Given the description of an element on the screen output the (x, y) to click on. 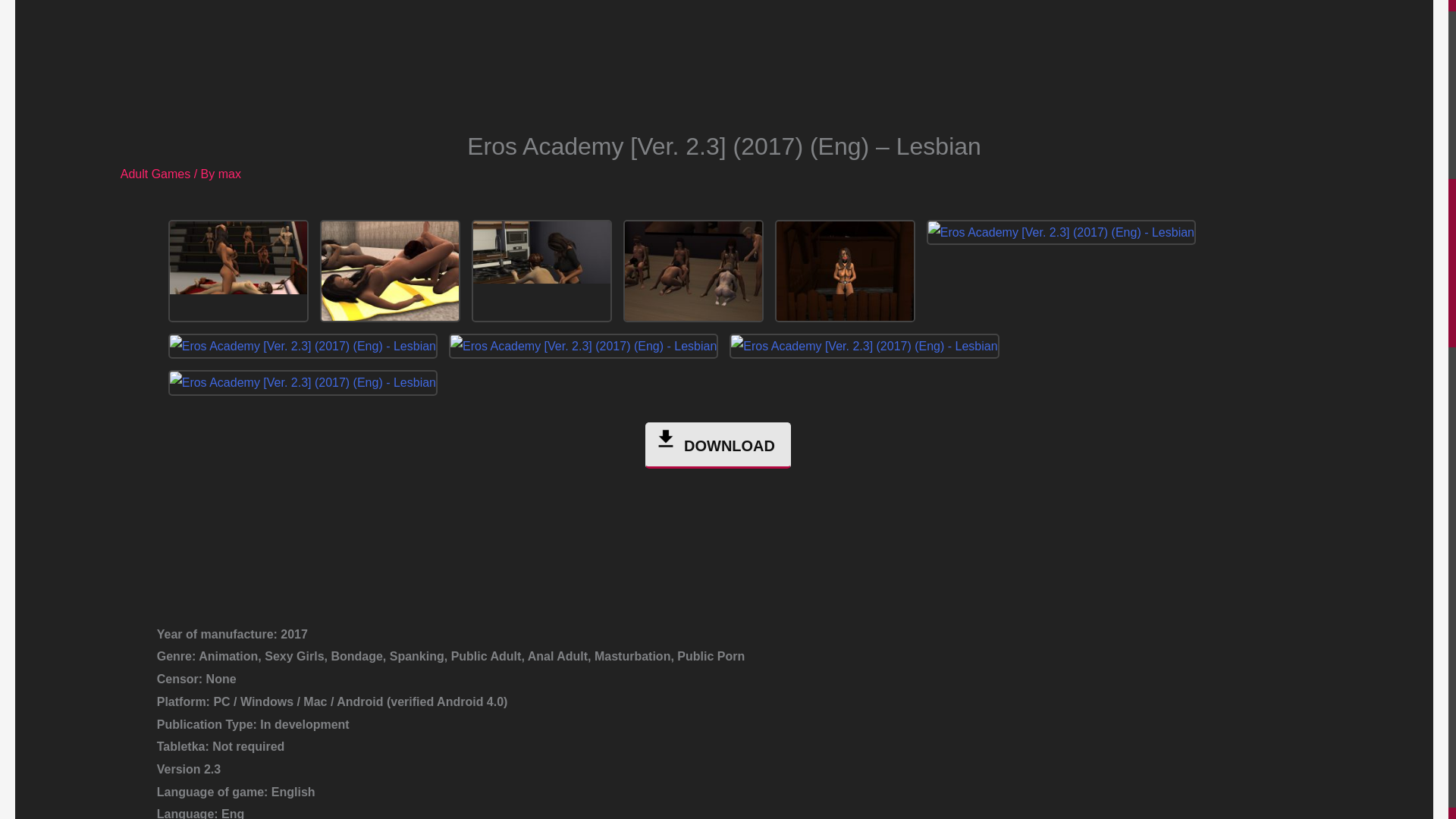
Adult Games (155, 173)
max (229, 173)
View all posts by max (229, 173)
DOWNLOAD (717, 445)
DOWNLOAD (717, 446)
